Given the description of an element on the screen output the (x, y) to click on. 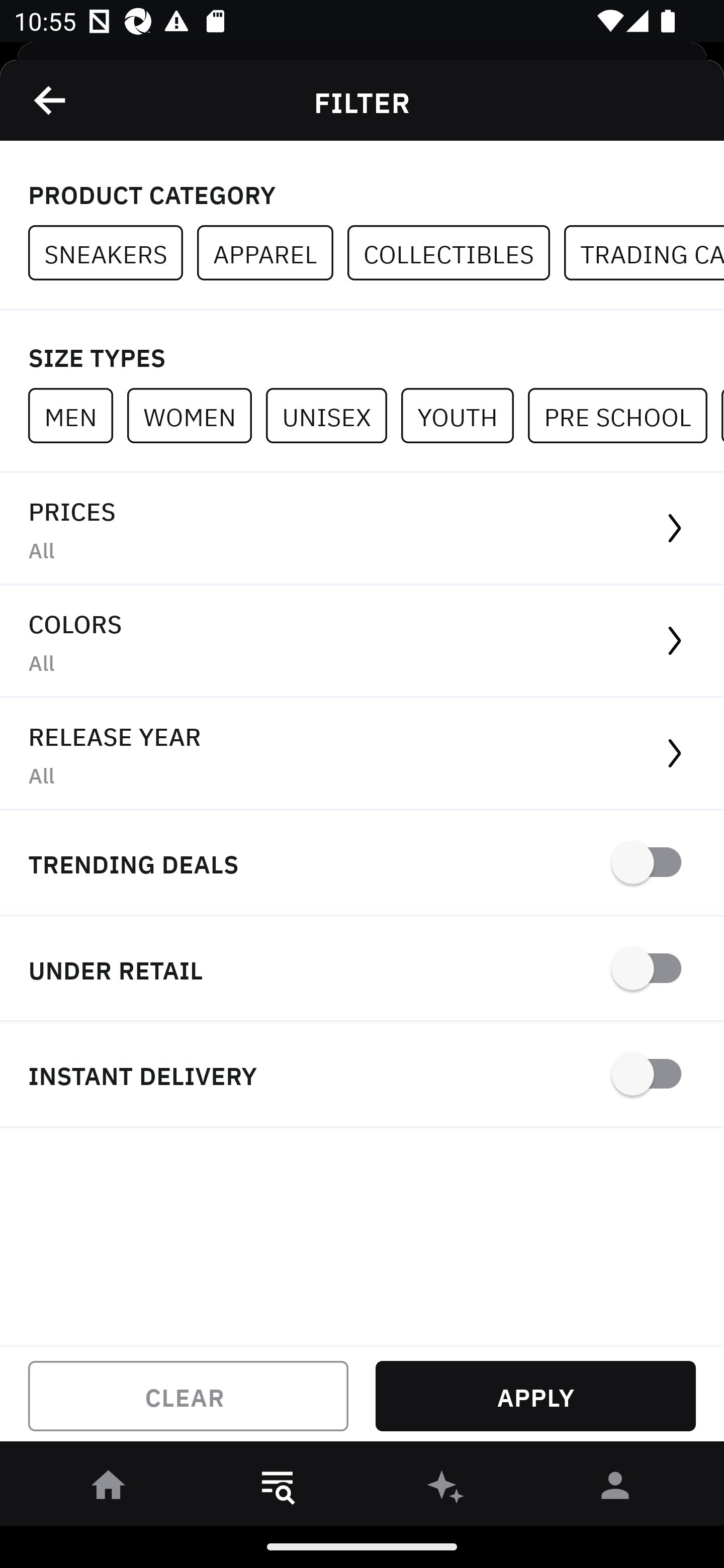
 (50, 100)
SNEAKERS (112, 252)
APPAREL (271, 252)
COLLECTIBLES (455, 252)
TRADING CARDS (643, 252)
MEN (77, 415)
WOMEN (196, 415)
UNISEX (333, 415)
YOUTH (464, 415)
PRE SCHOOL (624, 415)
PRICES All (362, 528)
COLORS All (362, 640)
RELEASE YEAR All (362, 753)
TRENDING DEALS (362, 863)
UNDER RETAIL (362, 969)
INSTANT DELIVERY (362, 1075)
CLEAR  (188, 1396)
APPLY (535, 1396)
󰋜 (108, 1488)
󱎸 (277, 1488)
󰫢 (446, 1488)
󰀄 (615, 1488)
